Given the description of an element on the screen output the (x, y) to click on. 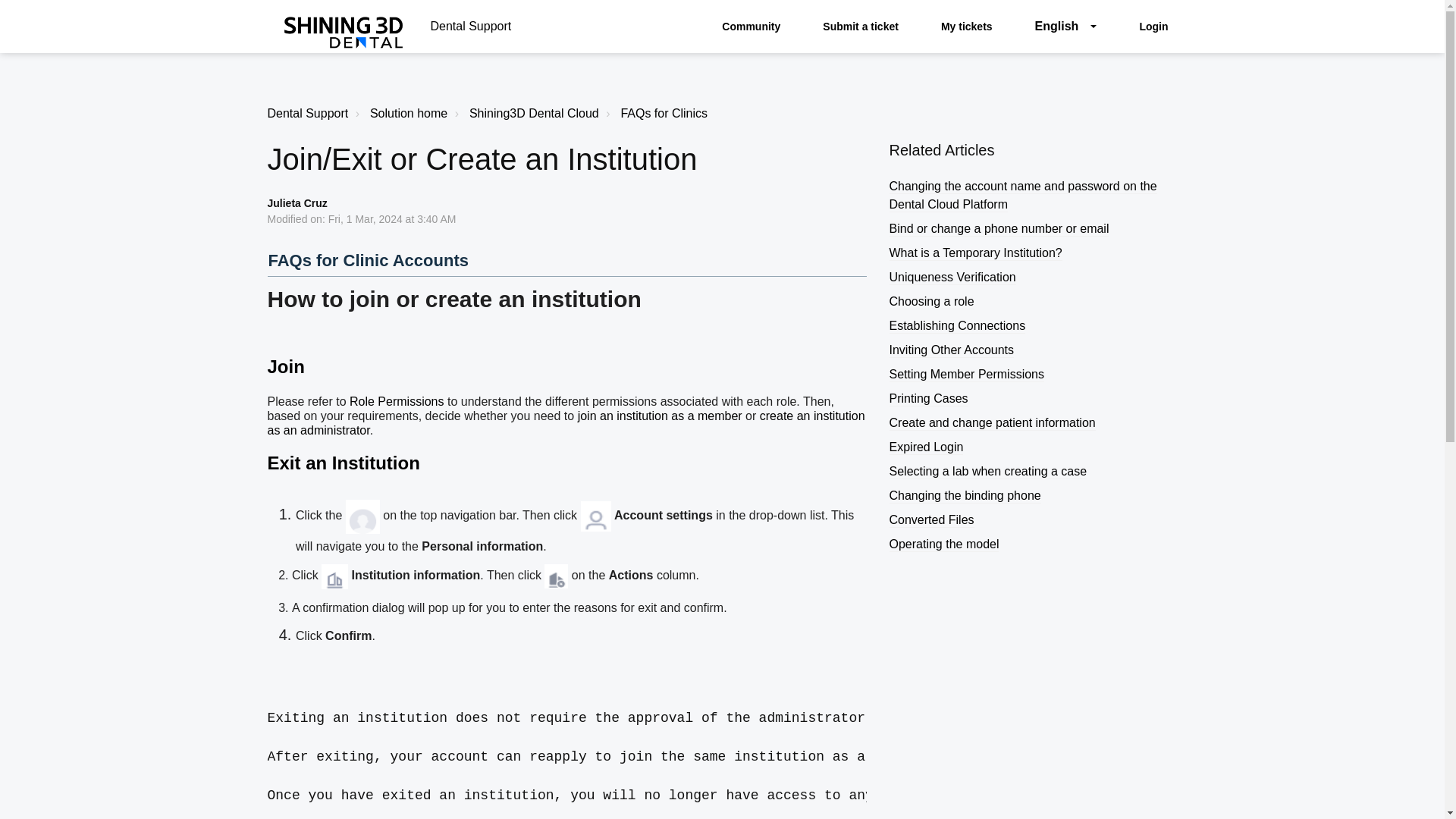
Login (1150, 25)
FAQs for Clinics (654, 113)
join an institution as a member (660, 415)
FAQs for Clinics (663, 113)
Selecting a lab when creating a case (987, 472)
Printing Cases (928, 399)
Establishing Connections (956, 326)
Uniqueness Verification (951, 278)
Solution home (400, 113)
Solution home (407, 113)
Shining3D Dental Cloud (524, 113)
Setting Member Permissions (965, 374)
Expired Login (925, 447)
Inviting Other Accounts (950, 350)
